Given the description of an element on the screen output the (x, y) to click on. 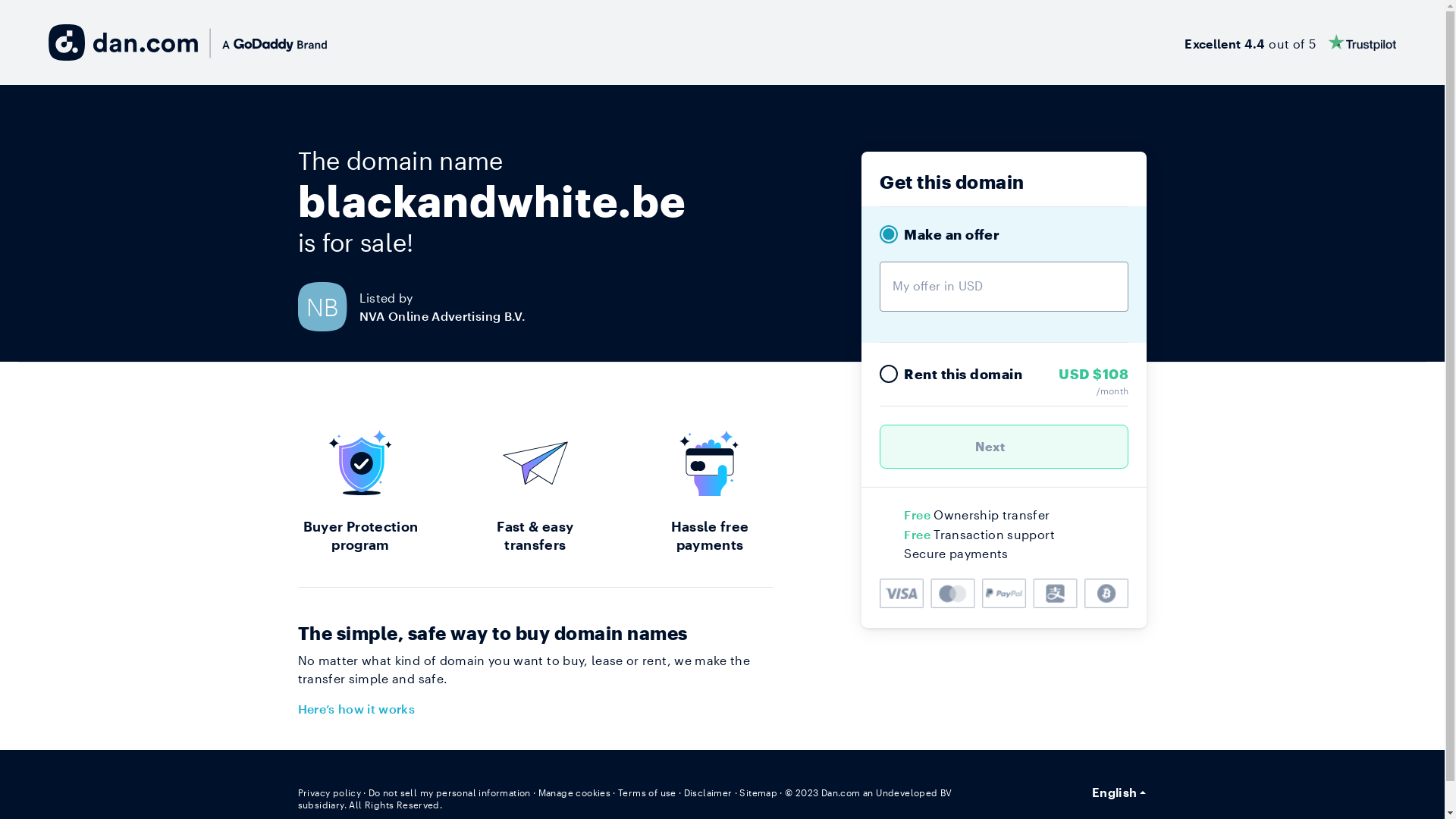
English Element type: text (1119, 792)
Do not sell my personal information Element type: text (449, 792)
Manage cookies Element type: text (574, 792)
Terms of use Element type: text (647, 792)
Excellent 4.4 out of 5 Element type: text (1290, 42)
Disclaimer Element type: text (708, 792)
Privacy policy Element type: text (328, 792)
Next
) Element type: text (1003, 446)
Sitemap Element type: text (758, 792)
